Given the description of an element on the screen output the (x, y) to click on. 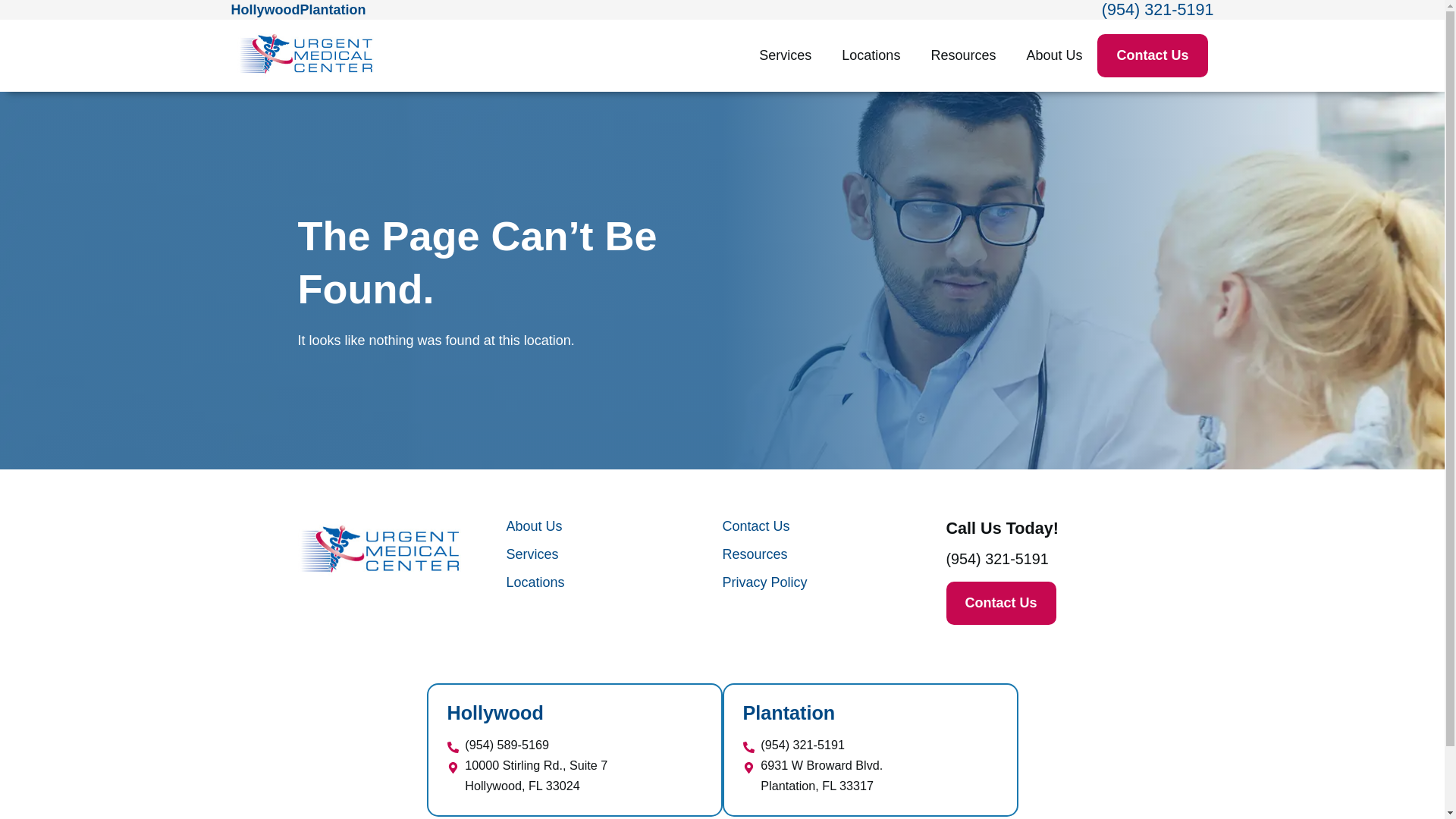
Locations (871, 54)
About Us (1053, 54)
Services (785, 54)
Plantation (332, 9)
Resources (962, 54)
Hollywood (264, 9)
